Given the description of an element on the screen output the (x, y) to click on. 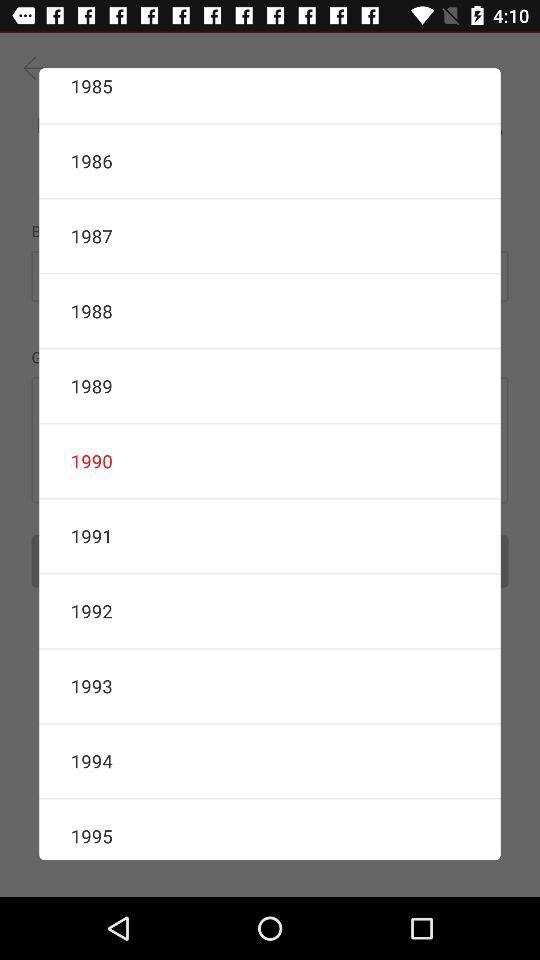
turn off the icon above the 1991 (269, 461)
